Given the description of an element on the screen output the (x, y) to click on. 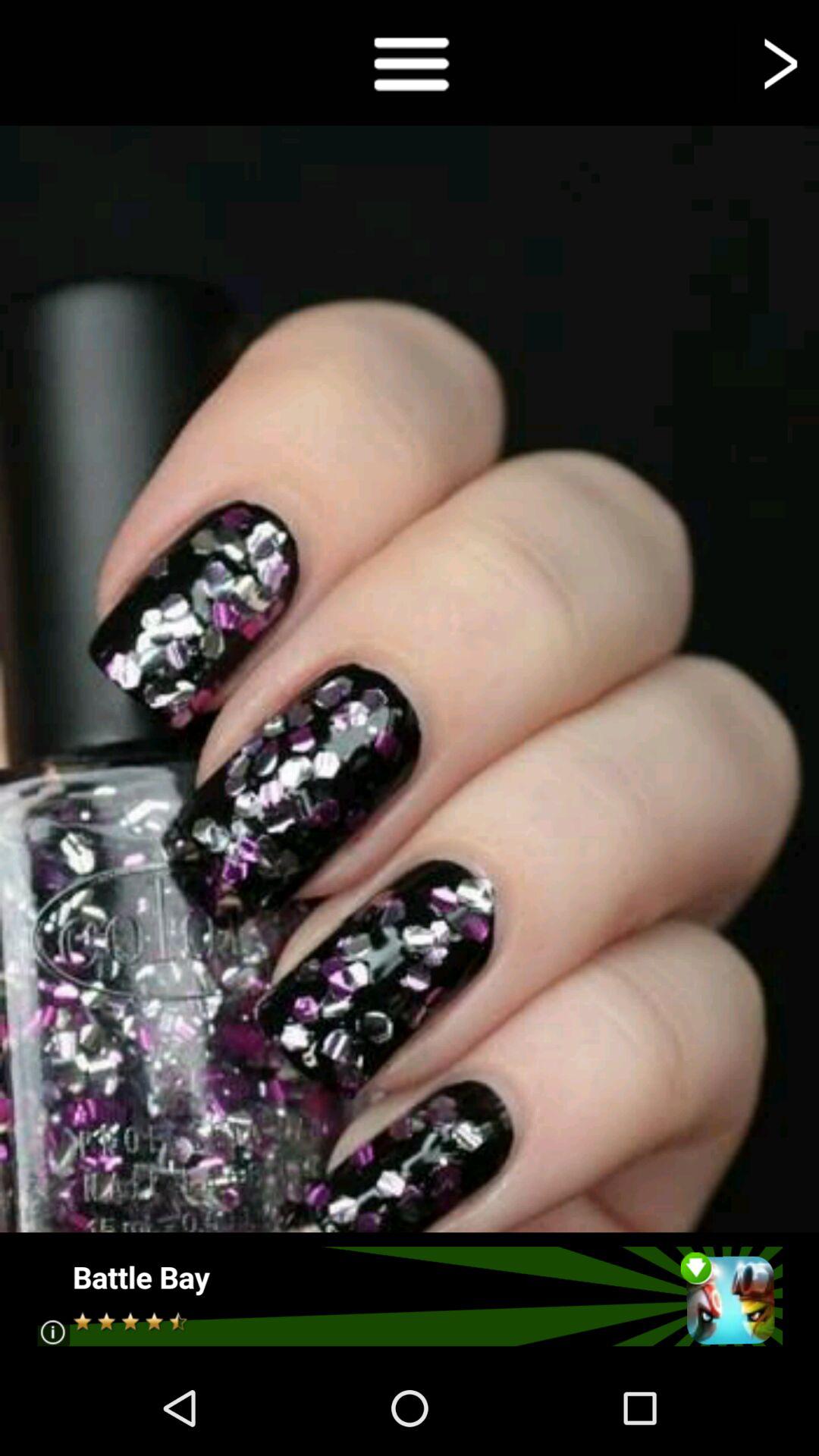
next (778, 62)
